Given the description of an element on the screen output the (x, y) to click on. 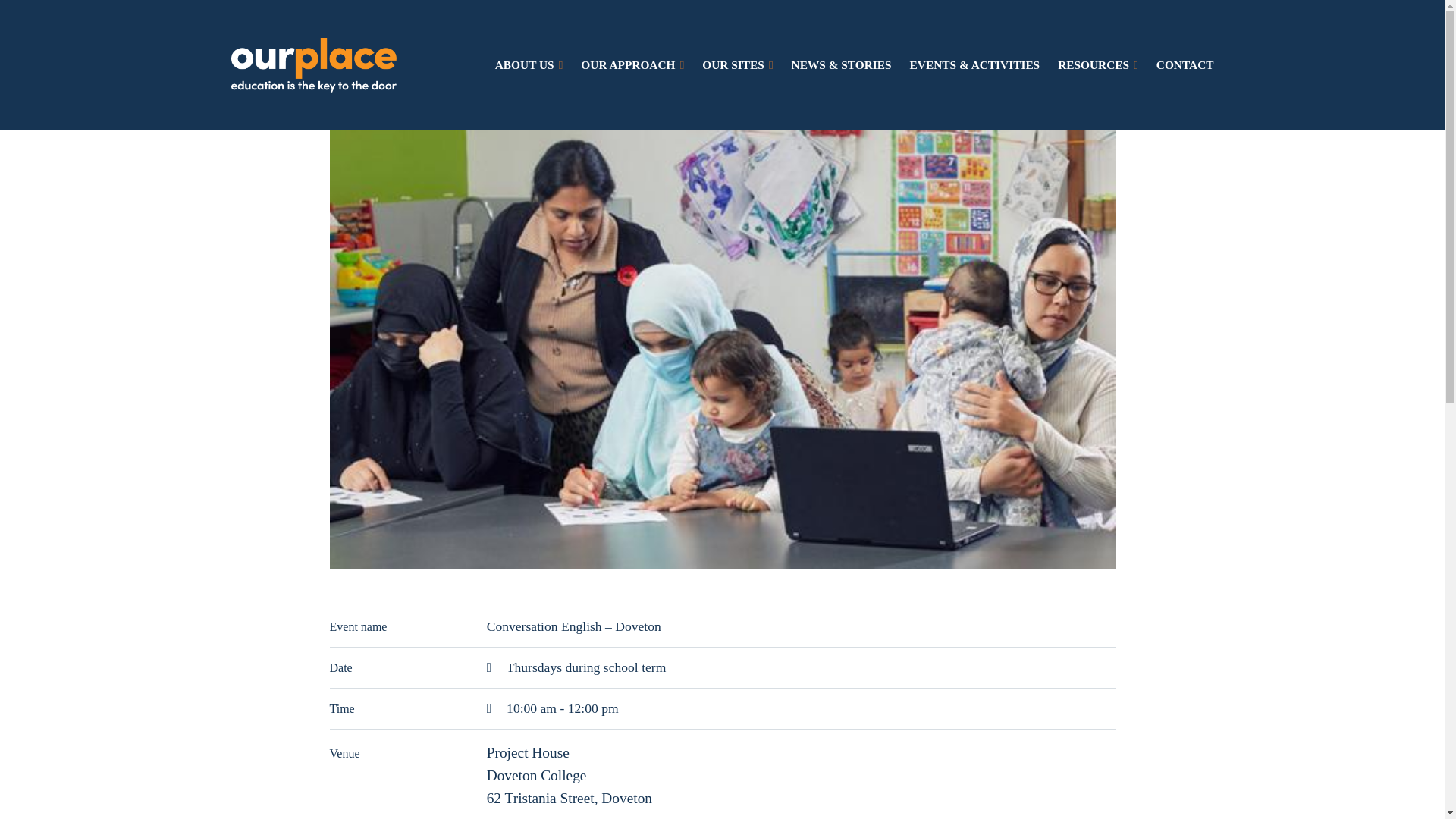
RESOURCES (1098, 64)
OUR APPROACH (632, 64)
ABOUT US (529, 64)
CONTACT (1185, 64)
OUR SITES (737, 64)
